Given the description of an element on the screen output the (x, y) to click on. 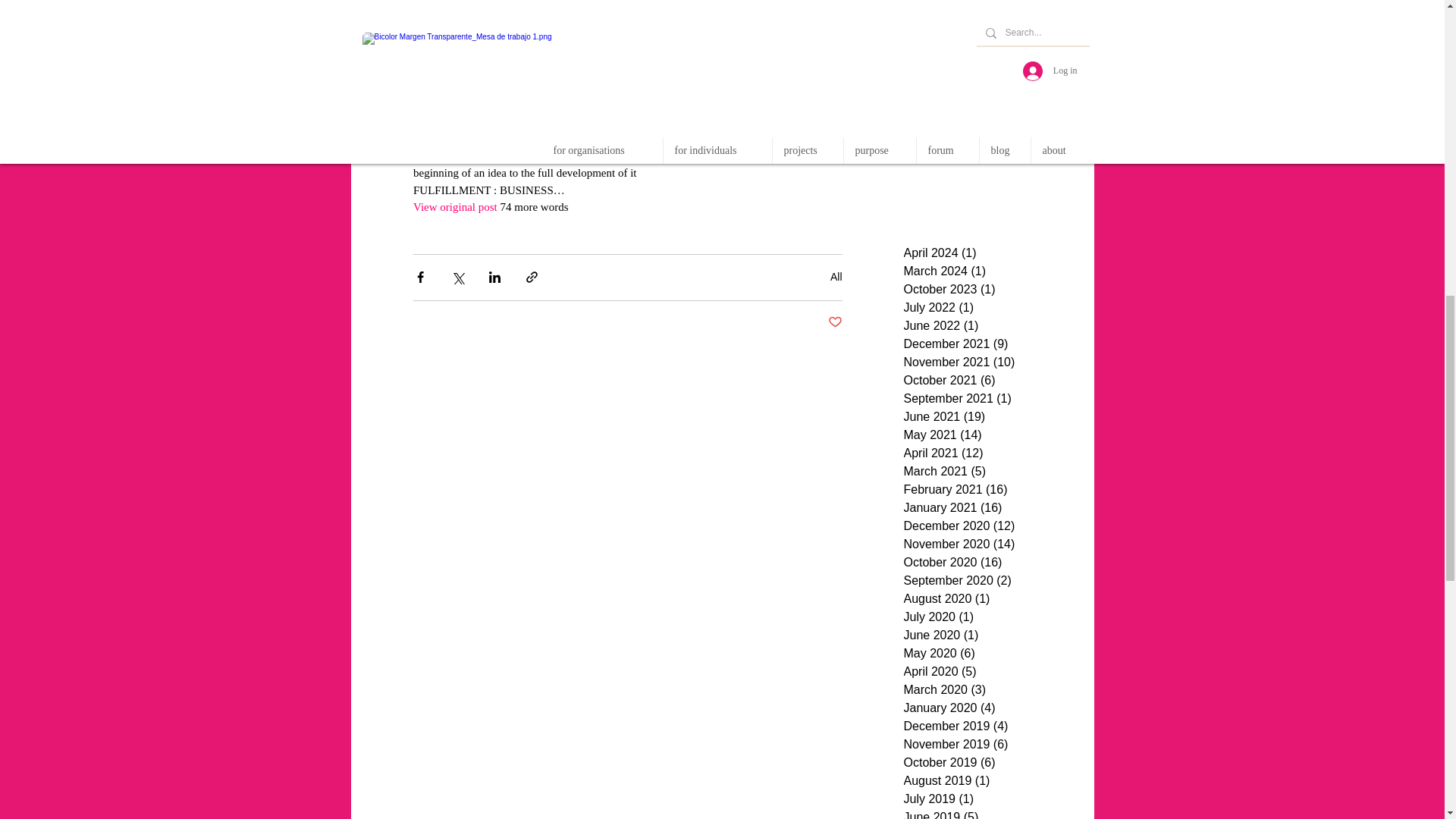
Post not marked as liked (835, 321)
All (836, 276)
View original post (454, 206)
